Given the description of an element on the screen output the (x, y) to click on. 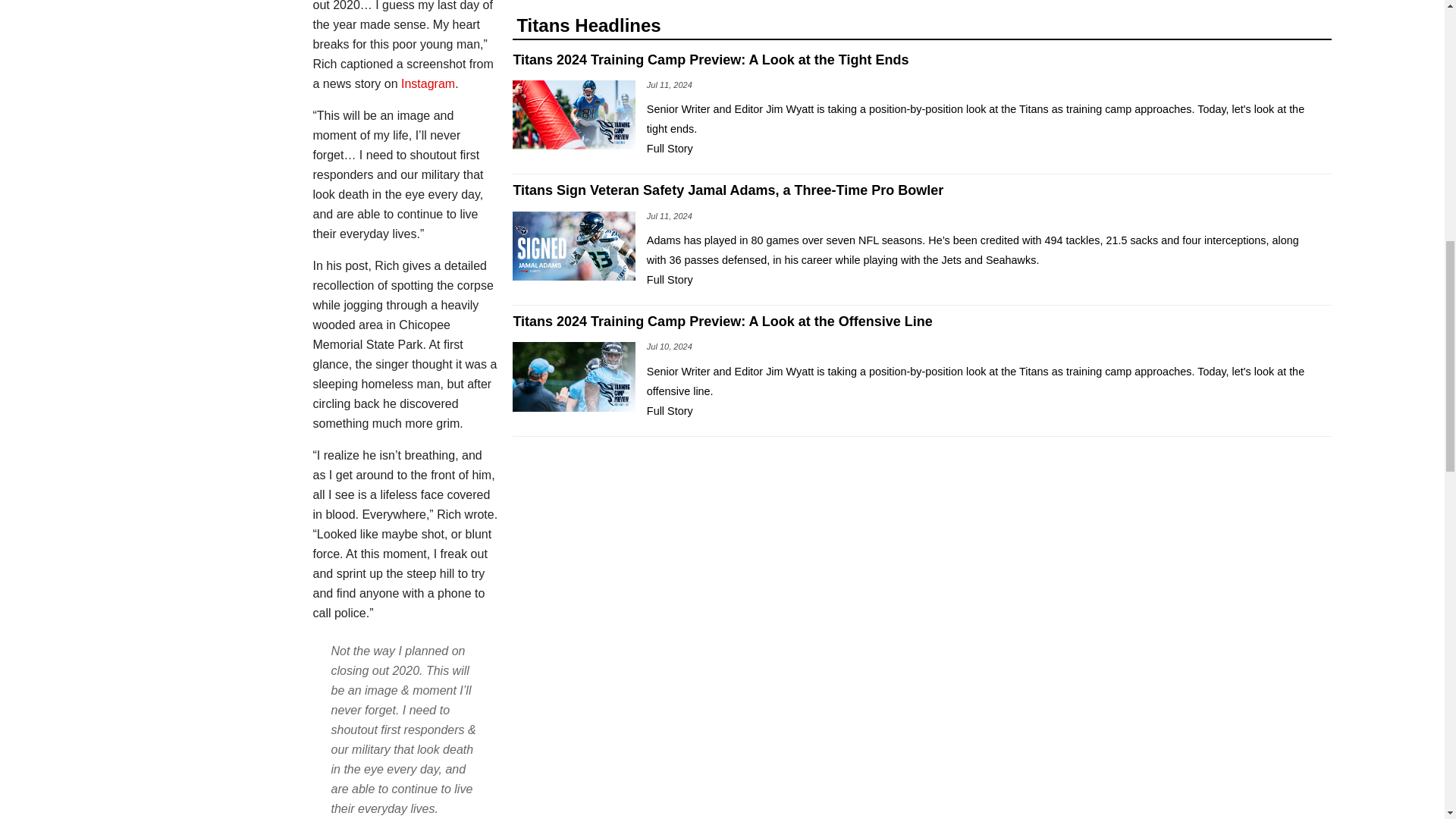
Instagram (427, 83)
